Given the description of an element on the screen output the (x, y) to click on. 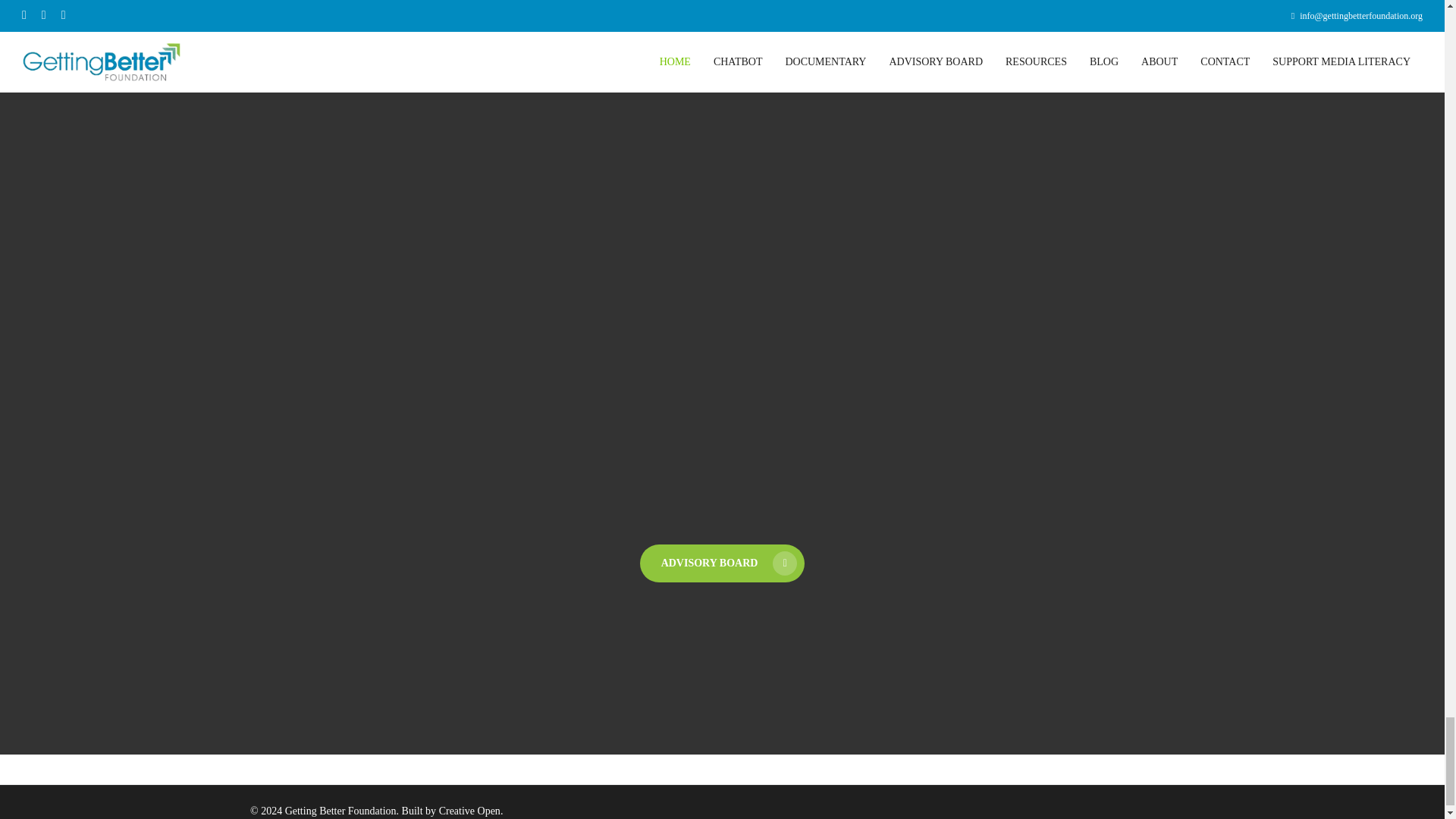
ADVISORY BOARD (722, 563)
Creative Open (469, 810)
